Given the description of an element on the screen output the (x, y) to click on. 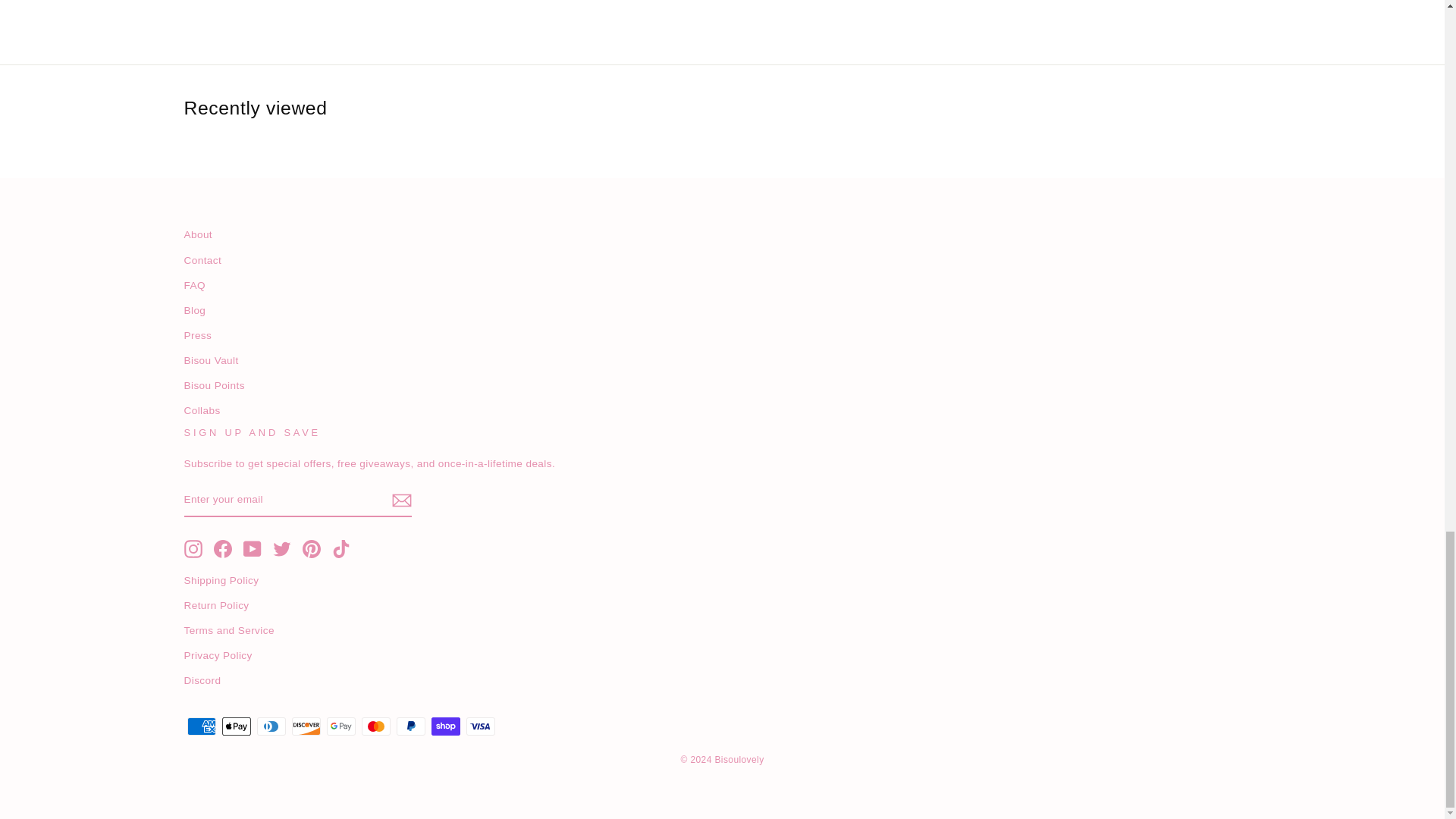
American Express (200, 726)
Diners Club (270, 726)
Apple Pay (235, 726)
Bisoulovely on Facebook (222, 548)
Bisoulovely on Instagram (192, 548)
Google Pay (340, 726)
Bisoulovely on YouTube (251, 548)
Bisoulovely on Twitter (282, 548)
Discover (305, 726)
